Given the description of an element on the screen output the (x, y) to click on. 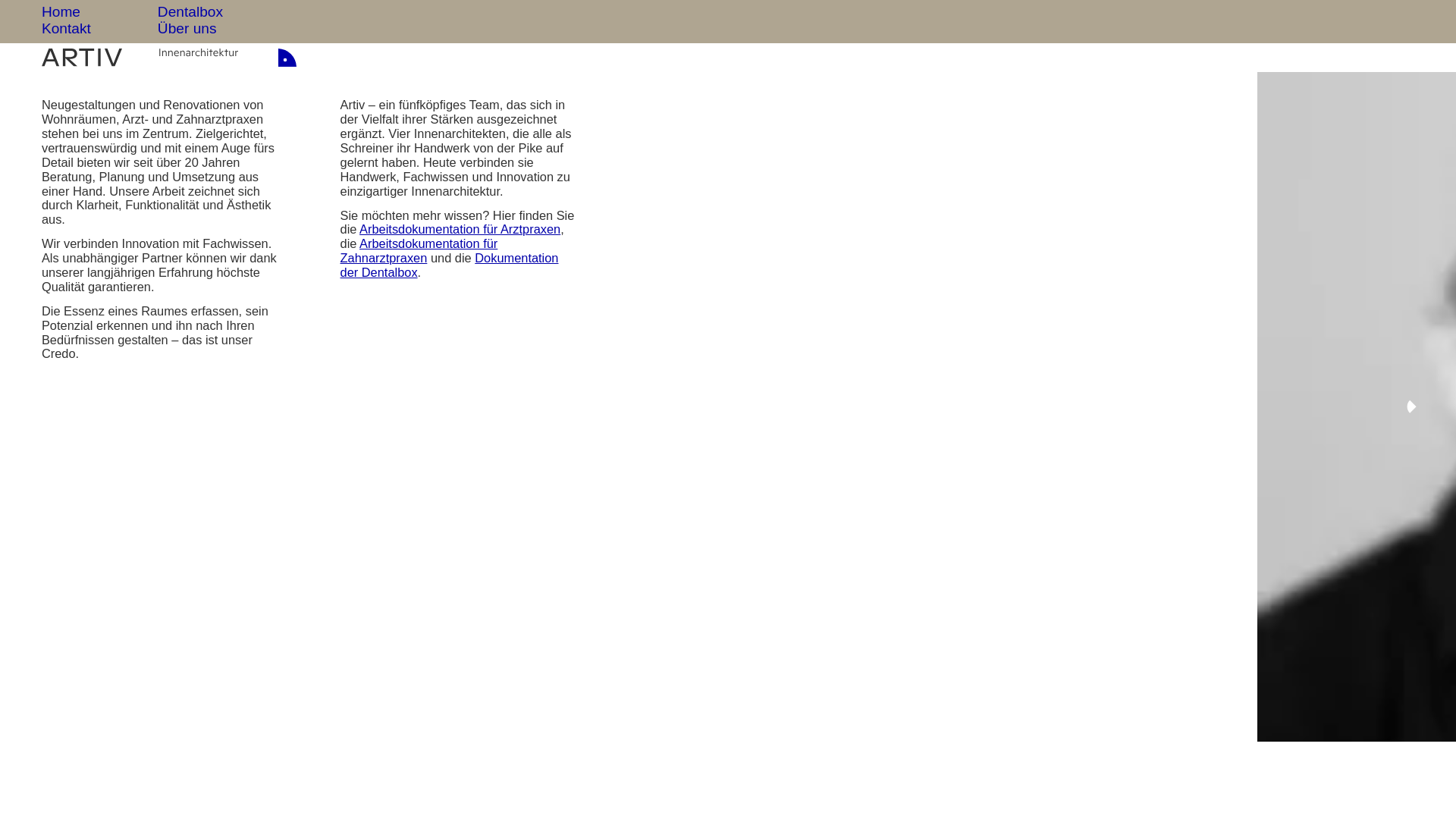
Kontakt Element type: text (66, 28)
Dokumentation der Dentalbox Element type: text (449, 265)
Home Element type: text (60, 11)
Dentalbox Element type: text (189, 11)
